Given the description of an element on the screen output the (x, y) to click on. 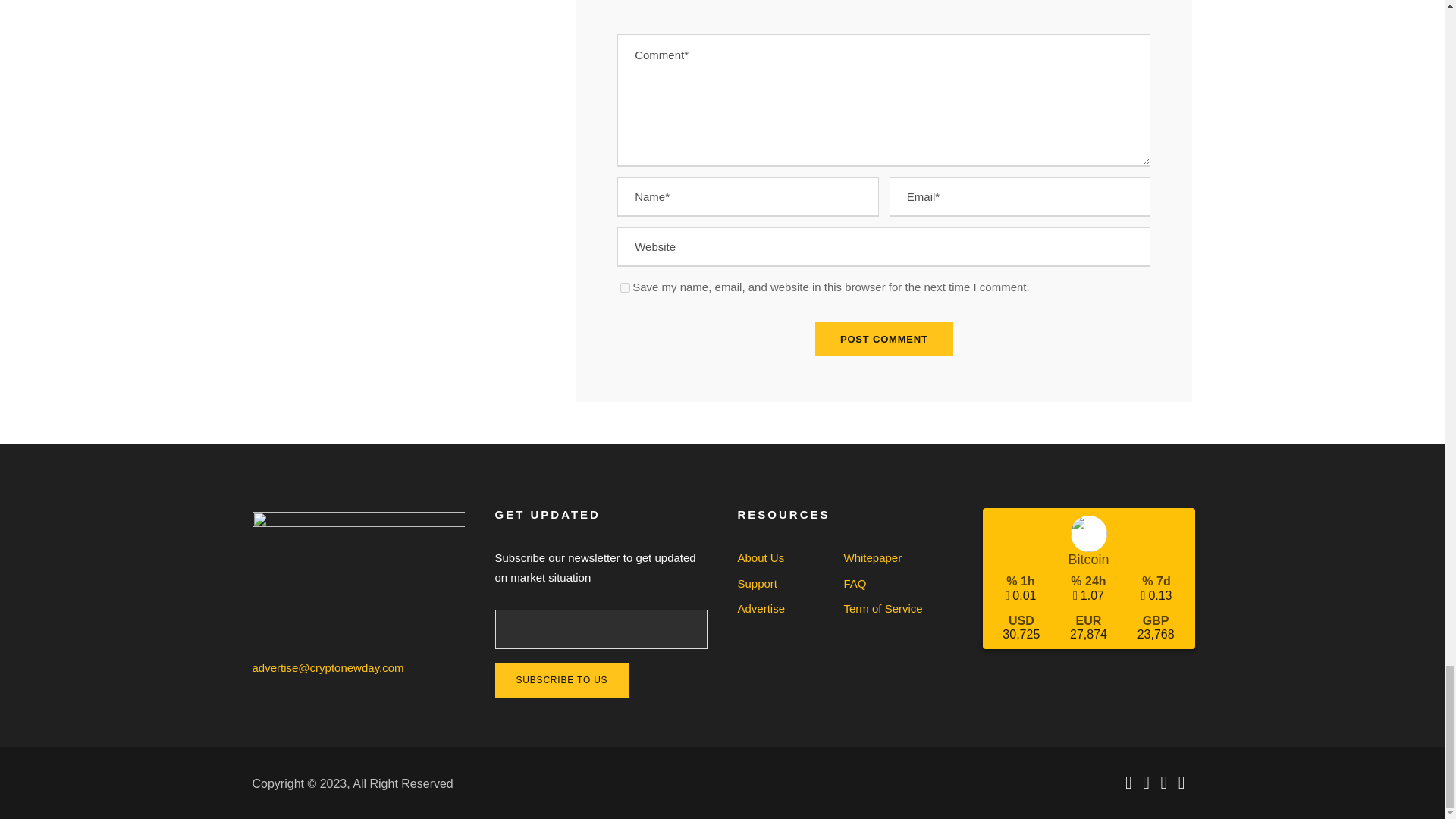
Subscribe to us (561, 679)
Post Comment (884, 339)
yes (625, 287)
